Given the description of an element on the screen output the (x, y) to click on. 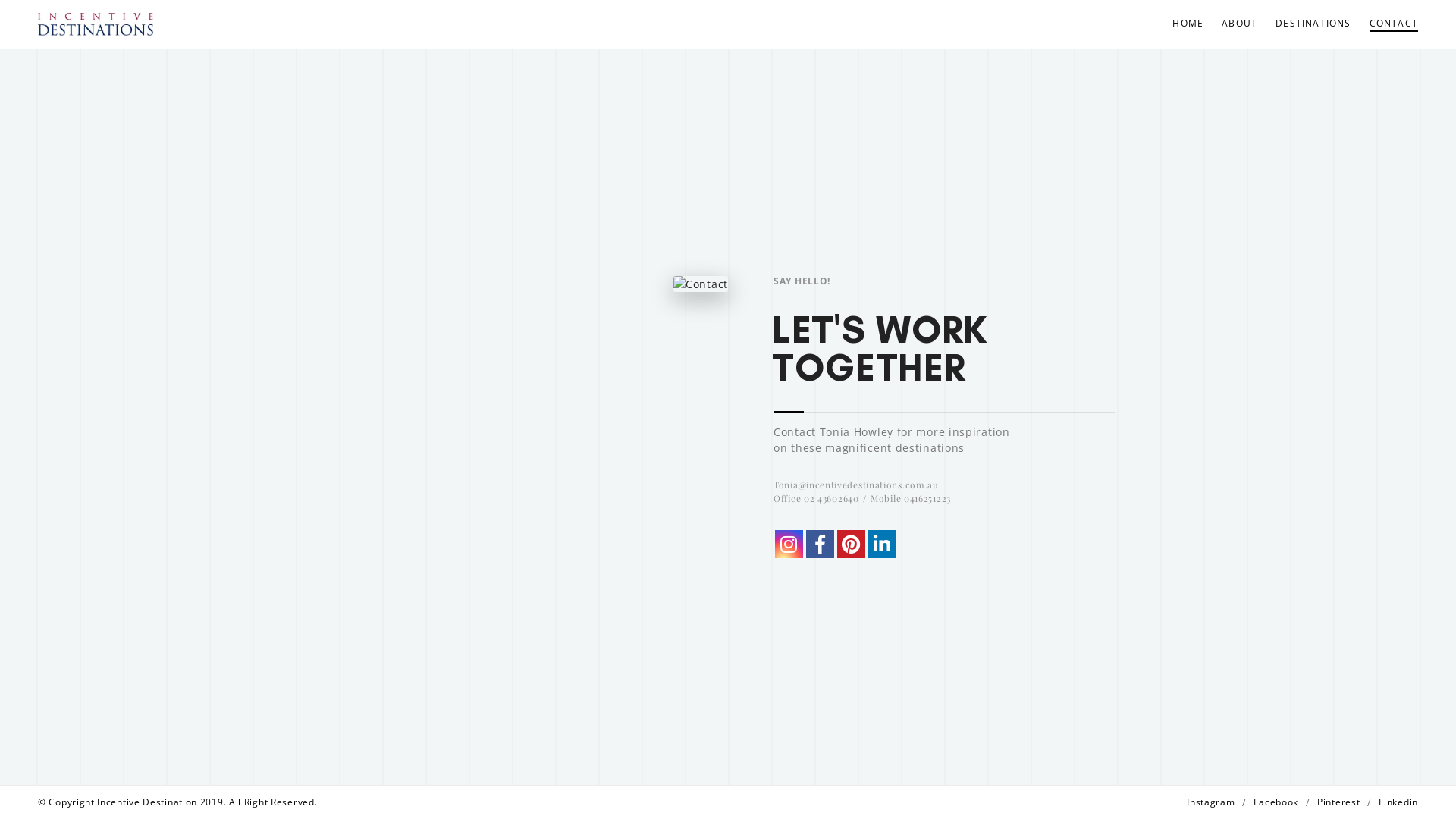
Facebook Element type: text (1275, 801)
LinkedIn Element type: hover (882, 543)
Facebook Element type: hover (820, 544)
HOME Element type: text (1187, 24)
Instagram Element type: hover (788, 543)
Mobile 0416251223 Element type: text (910, 498)
Office 02 43602640 Element type: text (816, 498)
LinkedIn Element type: hover (882, 544)
DESTINATIONS Element type: text (1312, 24)
Pinterest Element type: hover (851, 544)
Linkedin Element type: text (1398, 801)
Facebook Element type: hover (820, 543)
Pinterest Element type: text (1338, 801)
Instagram Element type: text (1210, 801)
ABOUT Element type: text (1239, 24)
Pinterest Element type: hover (850, 543)
Tonia@incentivedestinations.com.au Element type: text (855, 484)
Instagram Element type: hover (789, 544)
CONTACT Element type: text (1389, 24)
